Given the description of an element on the screen output the (x, y) to click on. 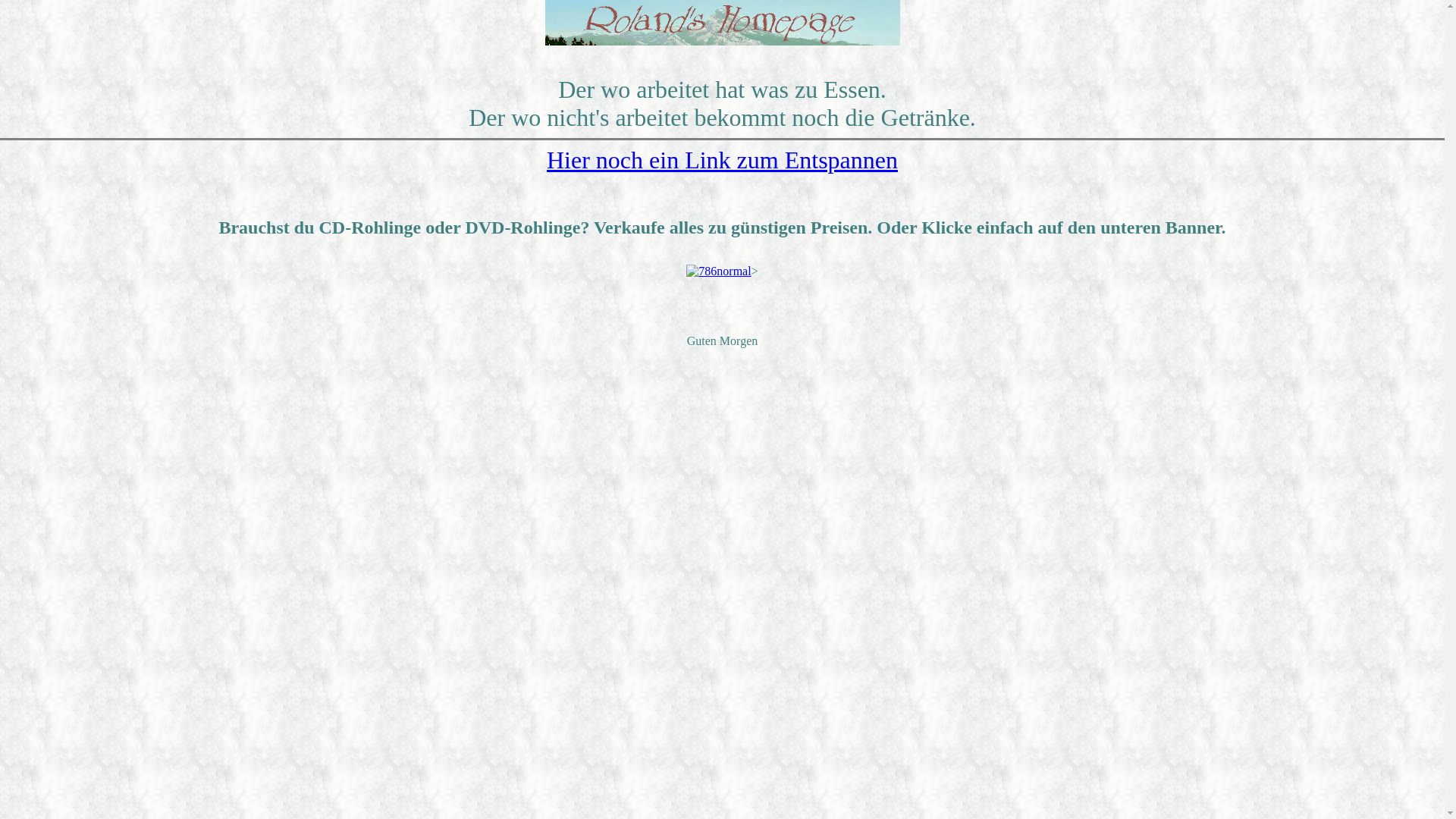
Hier noch ein Link zum Entspannen Element type: text (721, 159)
